Given the description of an element on the screen output the (x, y) to click on. 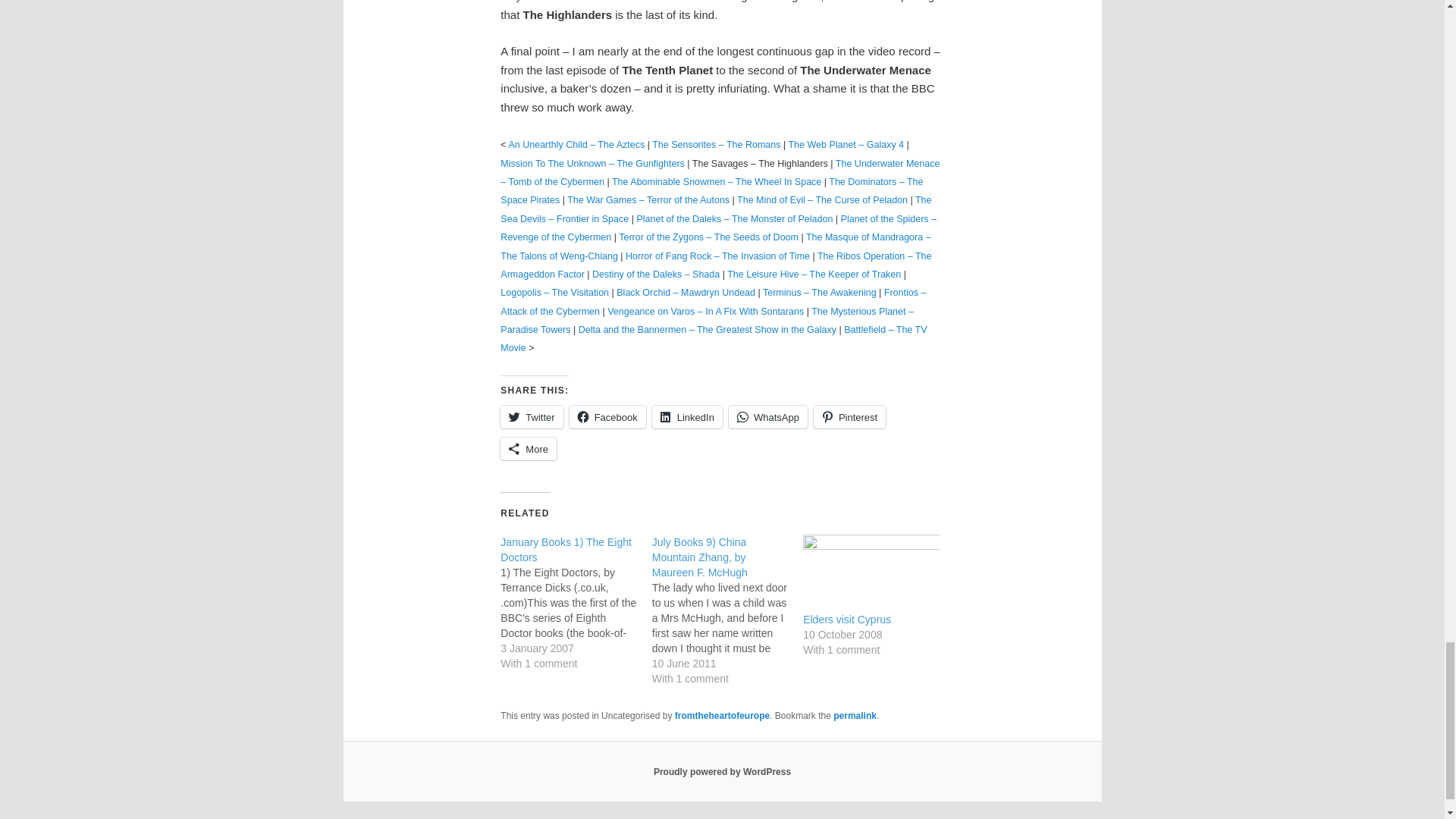
Click to share on Facebook (607, 416)
Click to share on LinkedIn (687, 416)
Click to share on Twitter (531, 416)
Click to share on WhatsApp (768, 416)
Elders visit Cyprus (847, 619)
Click to share on Pinterest (849, 416)
Elders visit Cyprus (871, 573)
Semantic Personal Publishing Platform (721, 771)
